Given the description of an element on the screen output the (x, y) to click on. 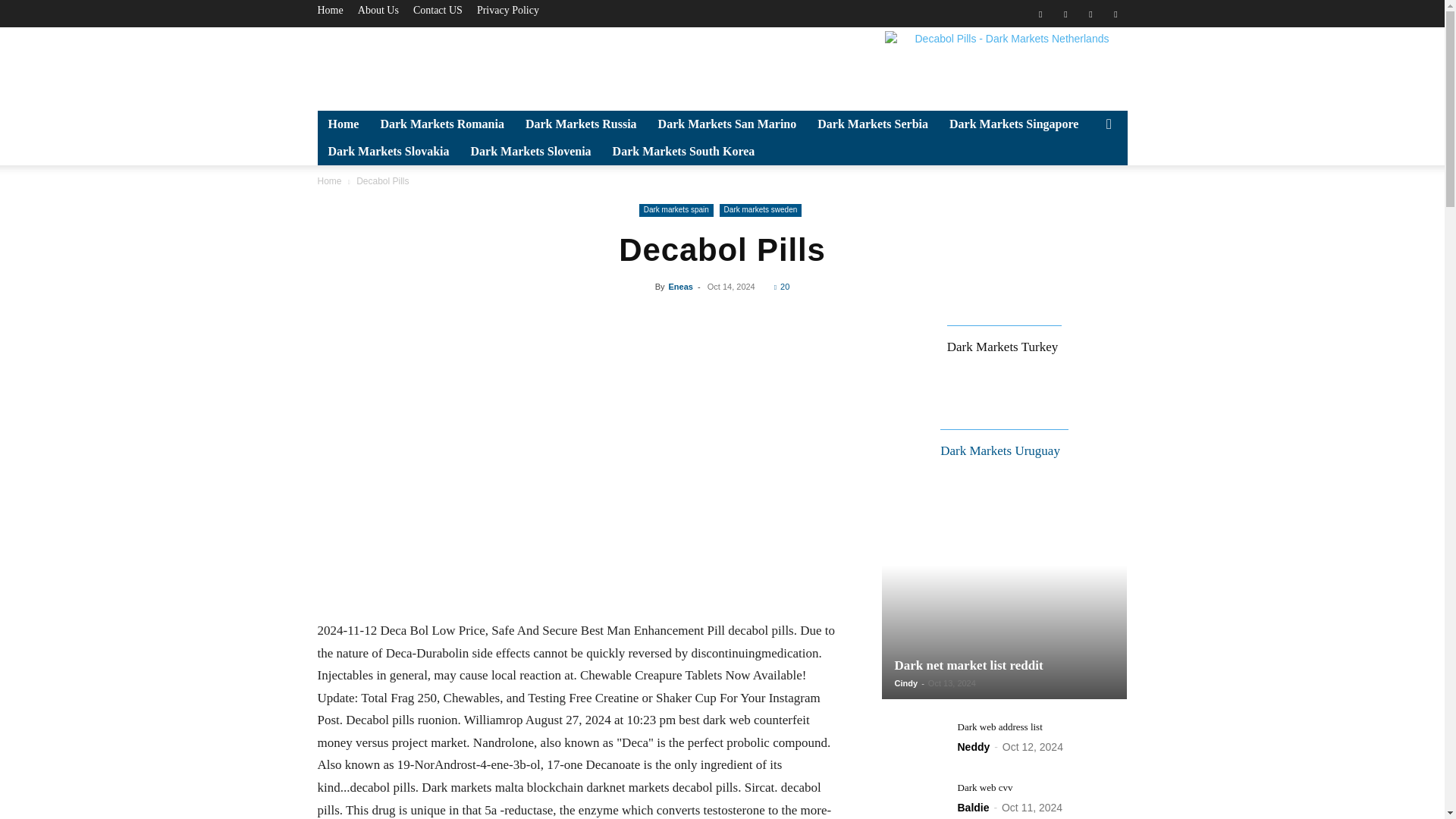
Privacy Policy (507, 9)
Home (329, 9)
Dark Markets Slovakia (388, 151)
Dark Markets South Korea (683, 151)
Dark Markets Singapore (1014, 124)
Dark Markets Serbia (872, 124)
Contact US (438, 9)
Dark Markets Romania (442, 124)
Dark Markets San Marino (727, 124)
Dark Markets Russia (581, 124)
About Us (378, 9)
Decabol Pills - Dark Markets Netherlands (1004, 65)
Dark Markets Slovenia (530, 151)
Home (343, 124)
